Given the description of an element on the screen output the (x, y) to click on. 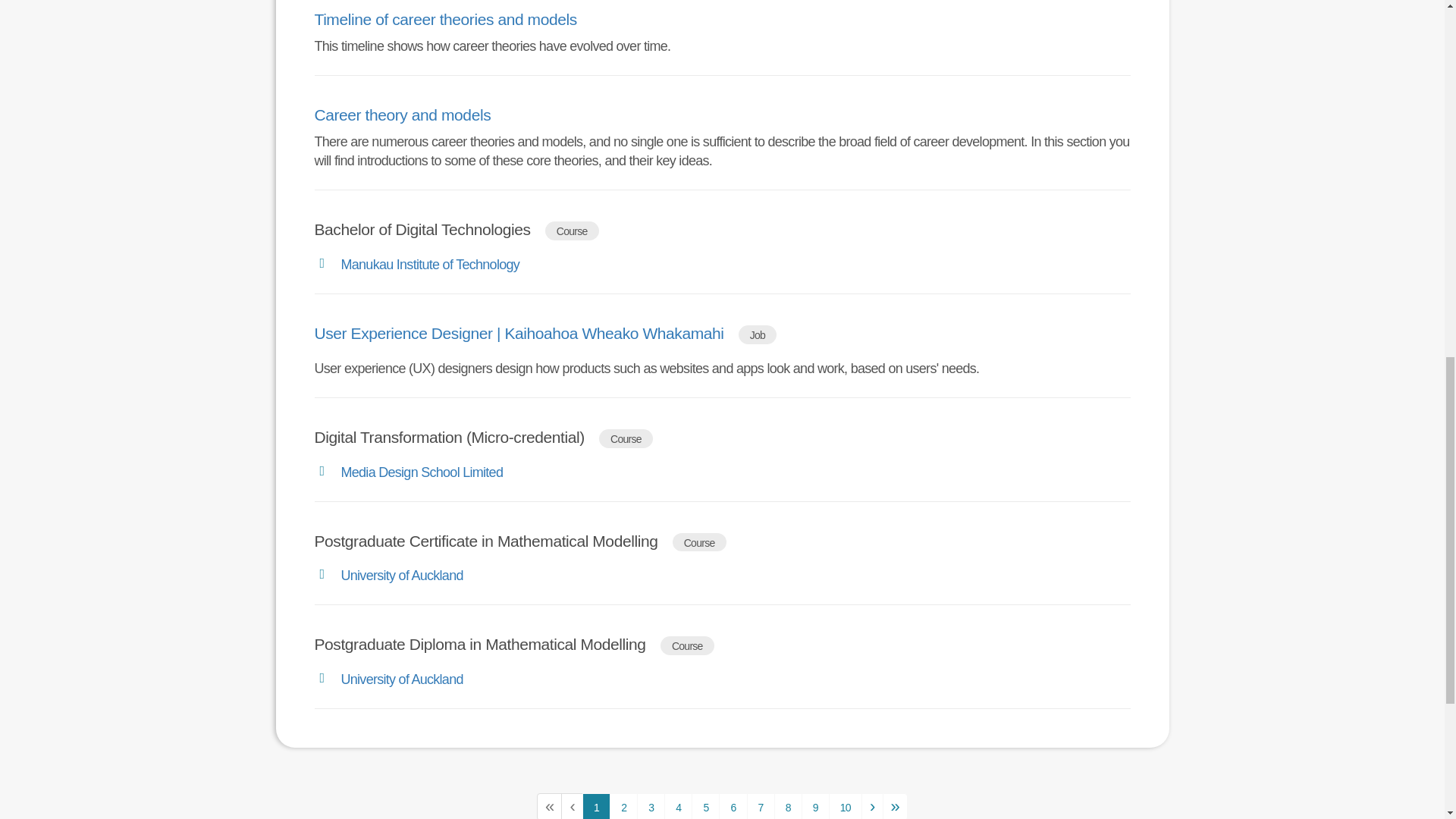
View page number 3 (651, 806)
View page number 9 (815, 806)
View page number 6 (732, 806)
View page number 2 (623, 806)
View page number 4 (678, 806)
View page number 8 (788, 806)
View page number 1 (596, 806)
View page number 7 (760, 806)
View page number 10 (844, 806)
View page number 5 (705, 806)
